Given the description of an element on the screen output the (x, y) to click on. 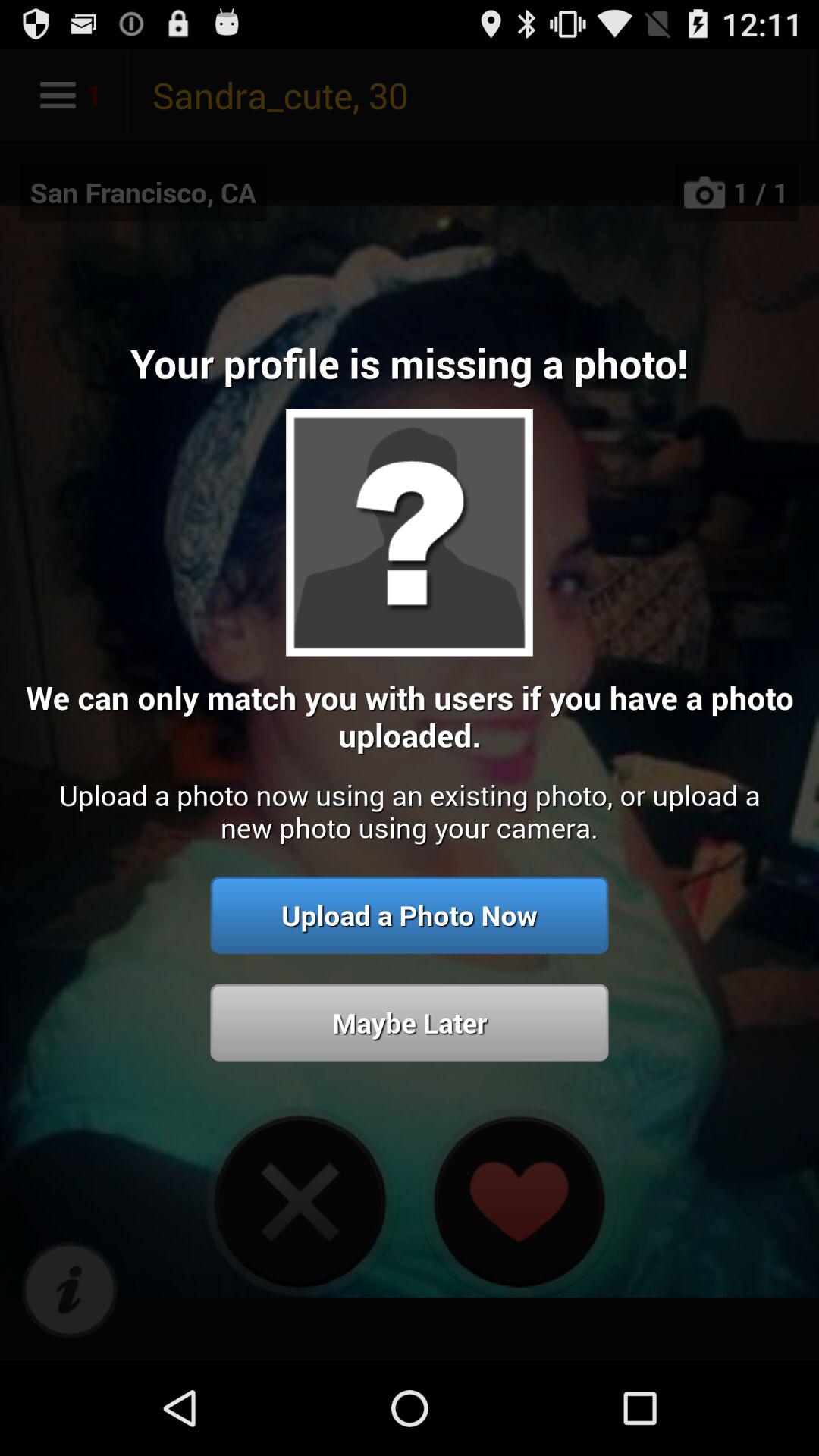
like photo (518, 1200)
